Given the description of an element on the screen output the (x, y) to click on. 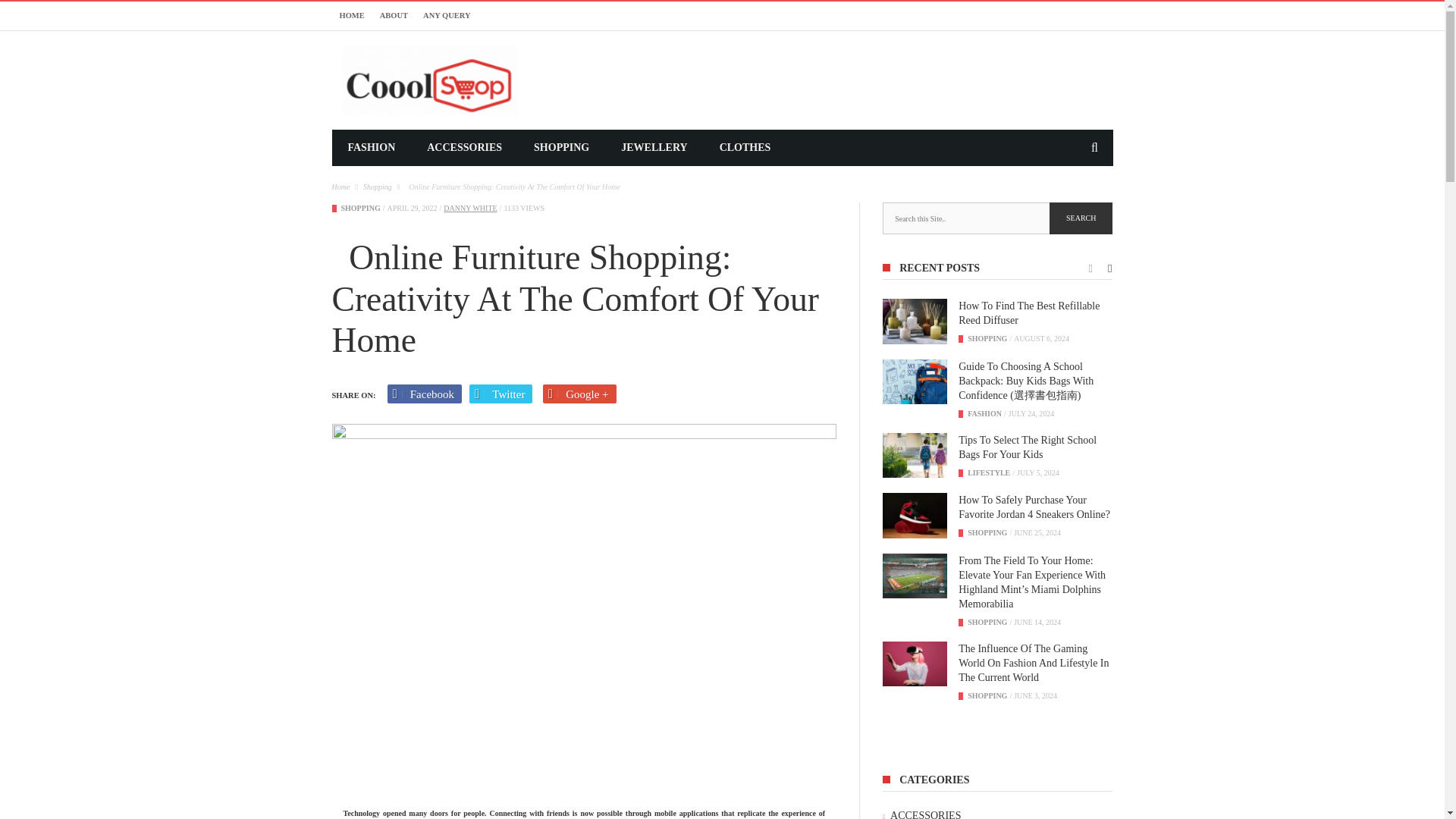
Facebook (425, 393)
ACCESSORIES (464, 147)
How To Find The Best Refillable Reed Diffuser (914, 320)
Twitter (500, 393)
HOME (351, 15)
Shopping (376, 186)
ABOUT (393, 15)
DANNY WHITE (470, 207)
Shopping (987, 338)
Shopping (360, 207)
